Given the description of an element on the screen output the (x, y) to click on. 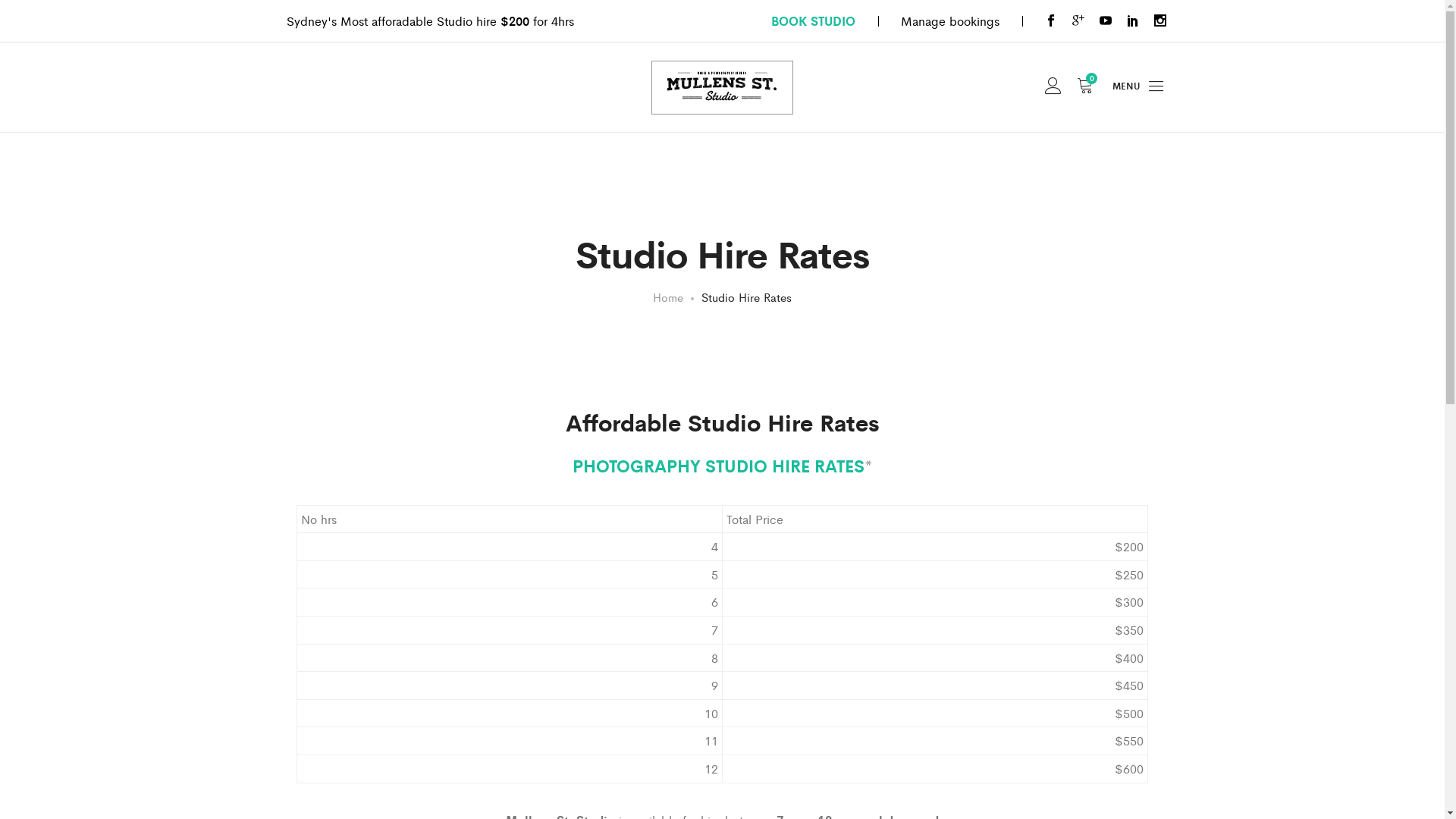
Linkedin Element type: hover (1132, 21)
BOOK STUDIO Element type: text (812, 20)
Manage bookings Element type: text (949, 20)
Youtube Element type: hover (1105, 21)
Facebook Element type: hover (1050, 21)
0 Element type: text (1084, 87)
Home Element type: text (667, 296)
Google Plus Element type: hover (1078, 21)
MENU Element type: text (1138, 86)
Instagram Element type: hover (1160, 21)
